Given the description of an element on the screen output the (x, y) to click on. 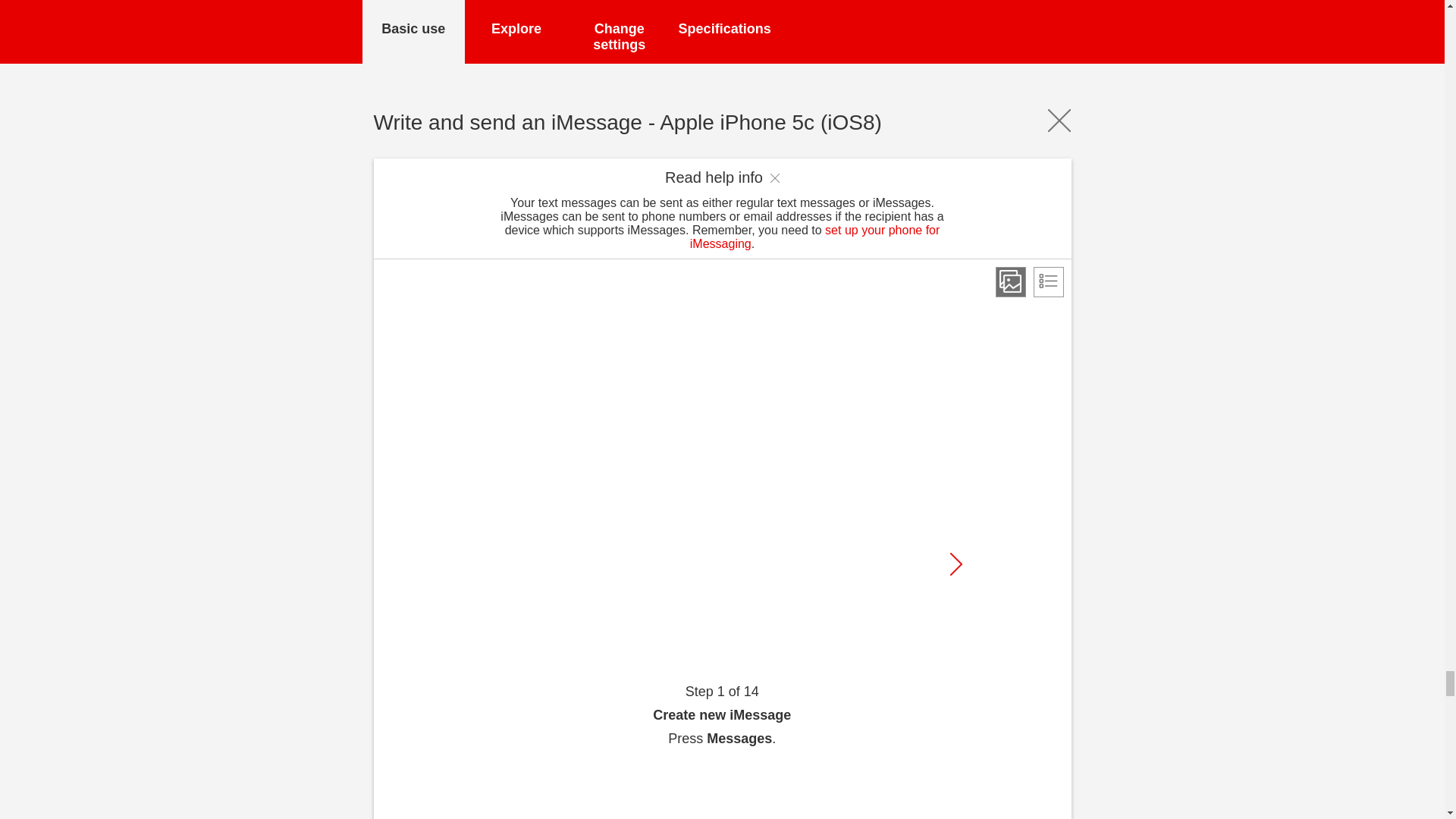
set up your phone for iMessaging (815, 236)
Basic use (413, 31)
Specifications (722, 31)
Explore (515, 31)
Change settings (619, 31)
